Given the description of an element on the screen output the (x, y) to click on. 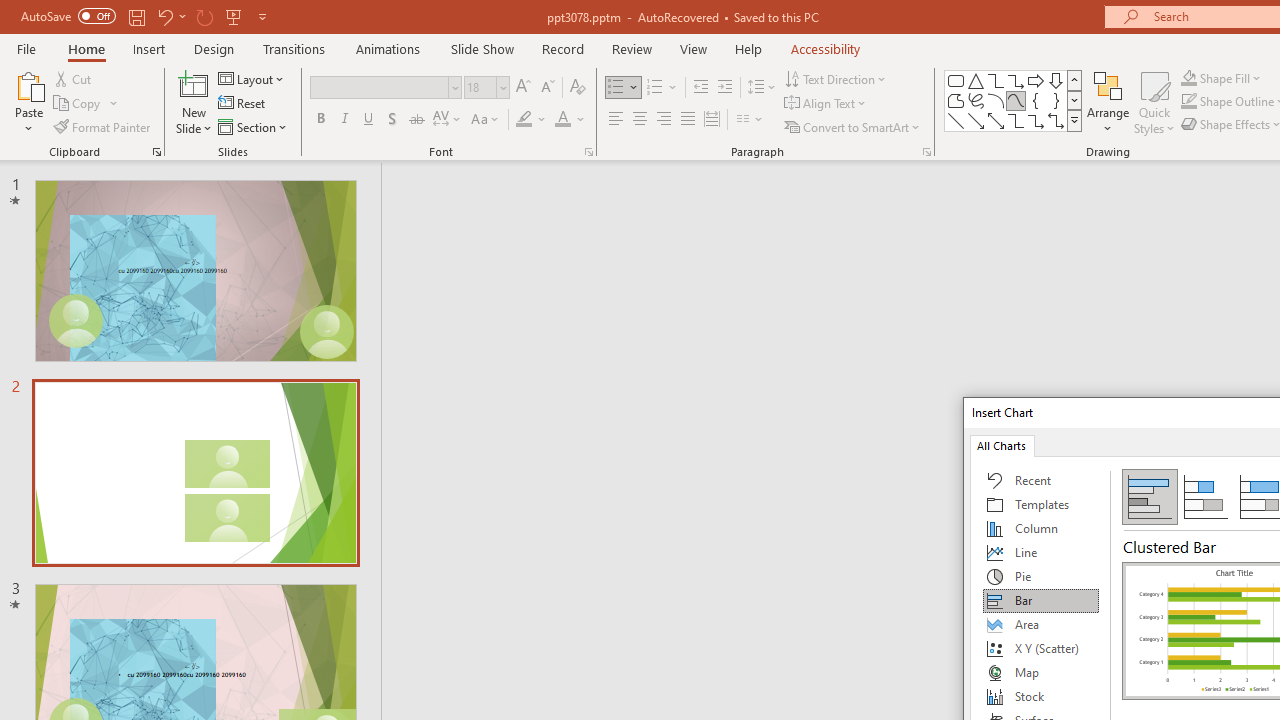
Format Painter (103, 126)
Change Case (486, 119)
Office Clipboard... (156, 151)
Column (1041, 528)
Templates (1041, 504)
Arrange (1108, 102)
